Given the description of an element on the screen output the (x, y) to click on. 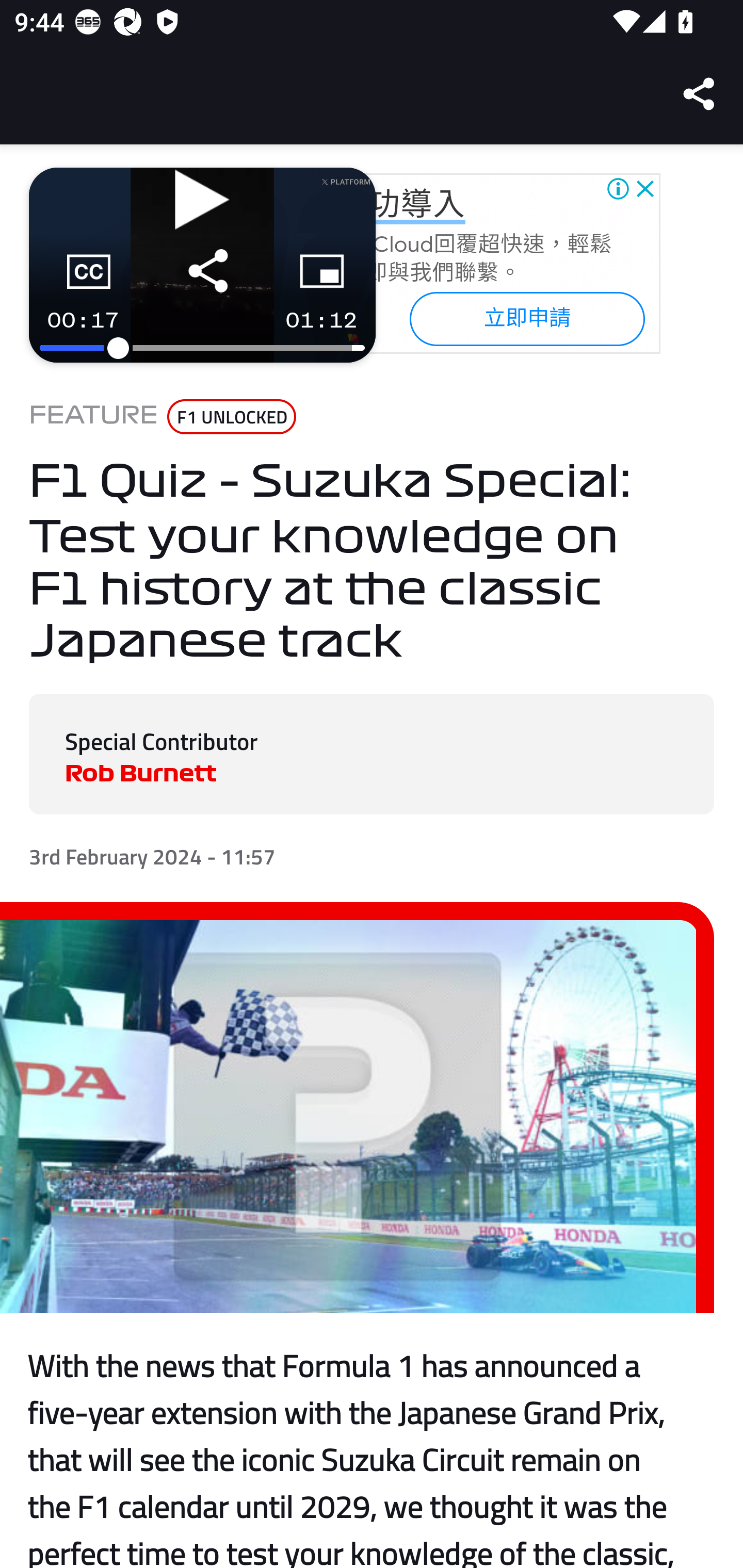
Share (699, 93)
立即申請 (526, 318)
